Given the description of an element on the screen output the (x, y) to click on. 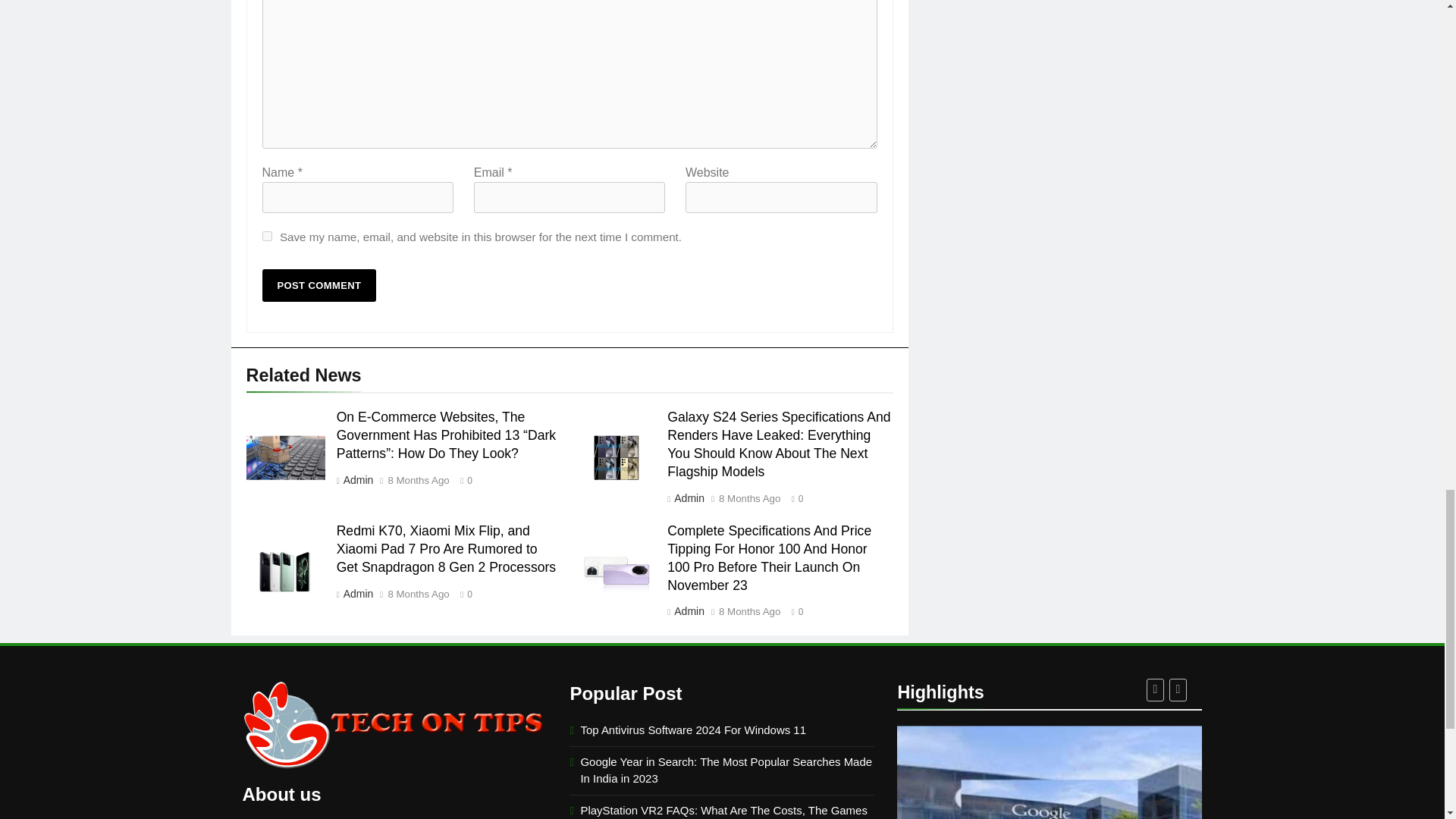
yes (267, 235)
Post Comment (319, 285)
